Given the description of an element on the screen output the (x, y) to click on. 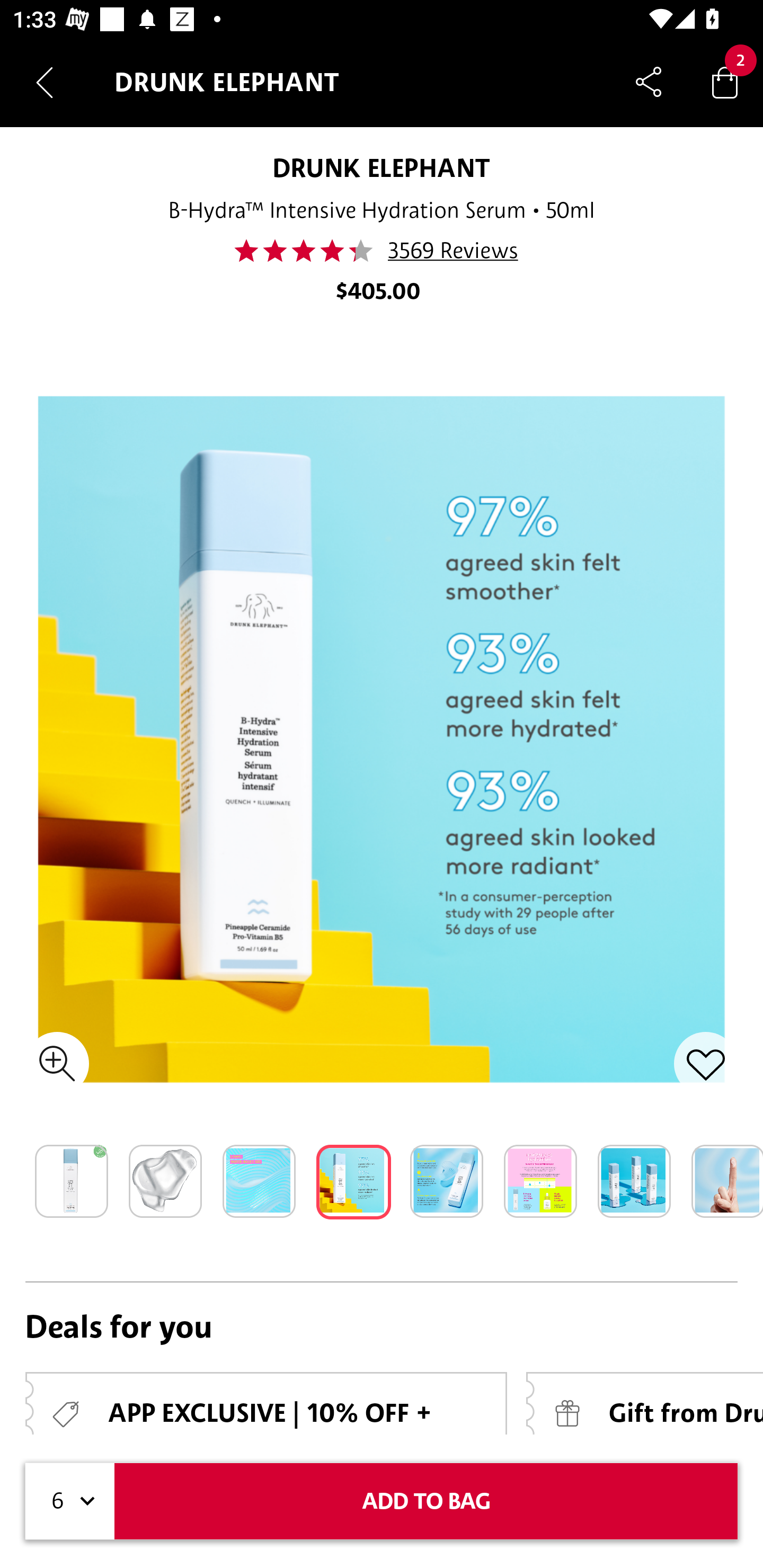
Navigate up (44, 82)
Share (648, 81)
Bag (724, 81)
DRUNK ELEPHANT (381, 167)
43.0 3569 Reviews (381, 250)
6 (69, 1500)
ADD TO BAG (425, 1500)
